Given the description of an element on the screen output the (x, y) to click on. 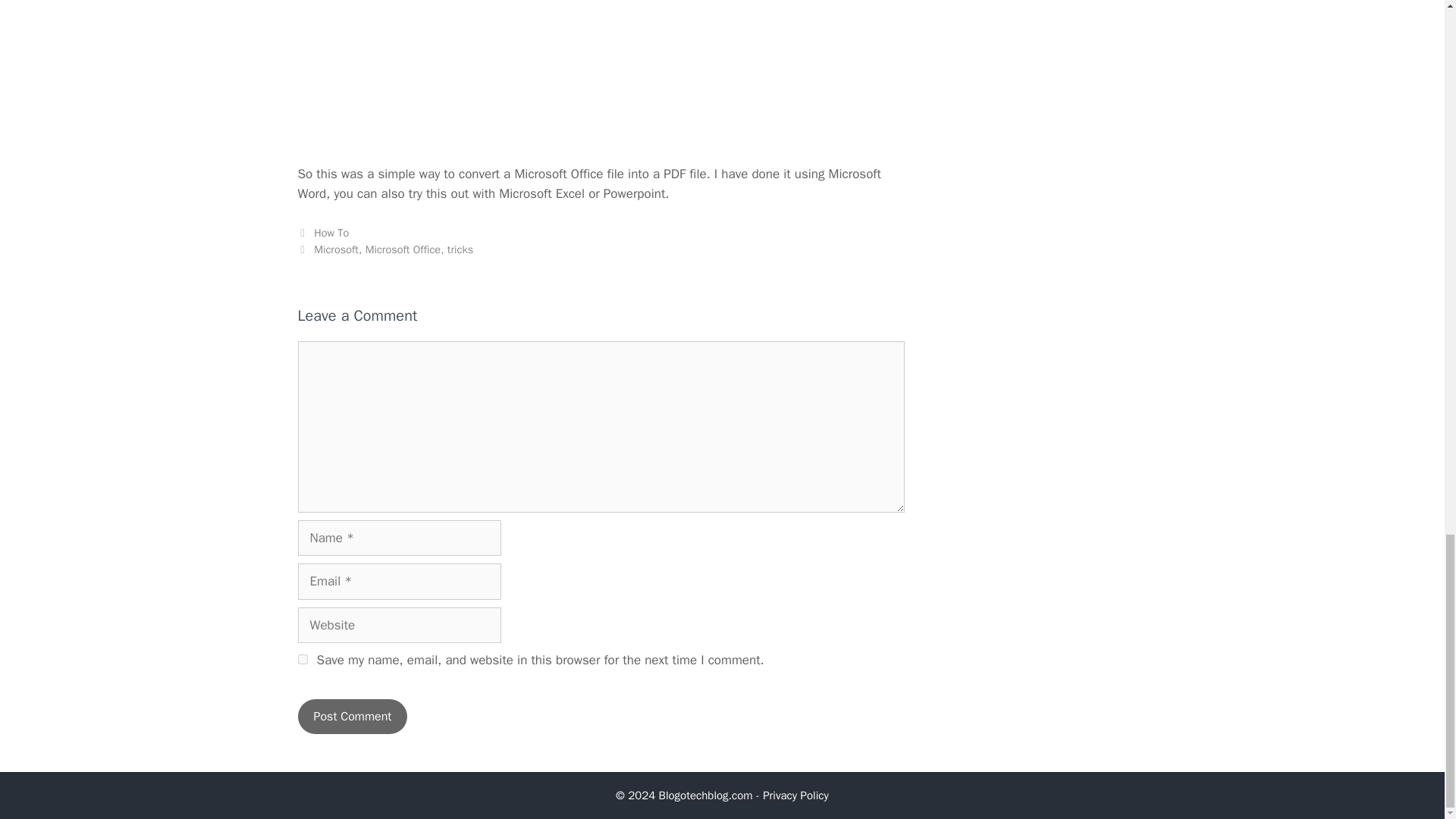
Post Comment (352, 716)
yes (302, 659)
tricks (459, 249)
Microsoft (336, 249)
Created-PDF-File.png (601, 72)
How To (331, 232)
Post Comment (352, 716)
Microsoft Office (403, 249)
